Given the description of an element on the screen output the (x, y) to click on. 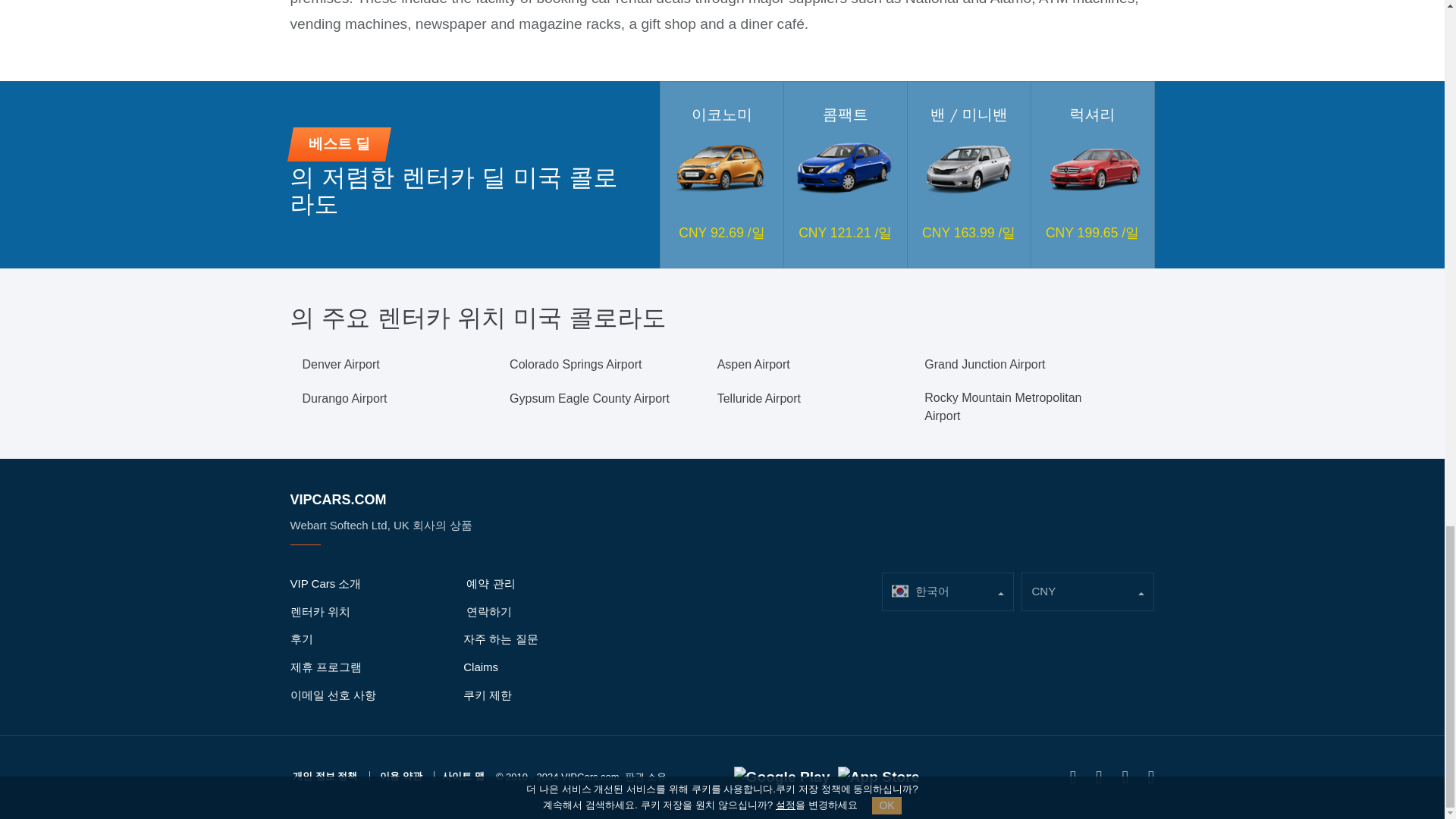
Durango Airport (344, 398)
Denver Airport (339, 364)
Rocky Mountain Metropolitan Airport (1016, 407)
Grand Junction Airport (984, 364)
Gypsum Eagle County Airport (589, 398)
Denver Airport (339, 364)
Colorado Springs Airport (575, 364)
Telluride Airport (758, 398)
Colorado Springs Airport (575, 364)
Aspen Airport (753, 364)
